Given the description of an element on the screen output the (x, y) to click on. 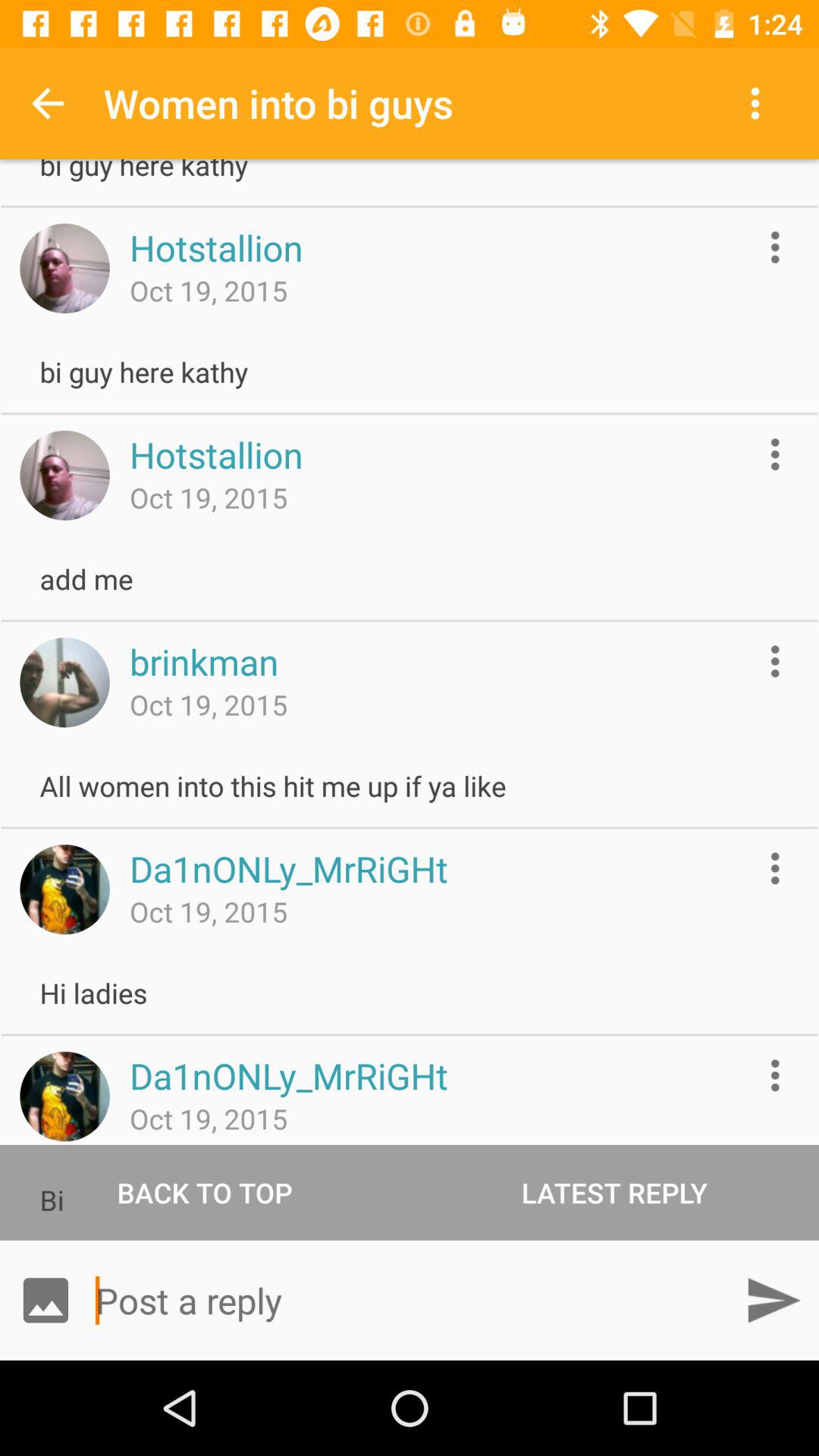
more information (775, 454)
